Given the description of an element on the screen output the (x, y) to click on. 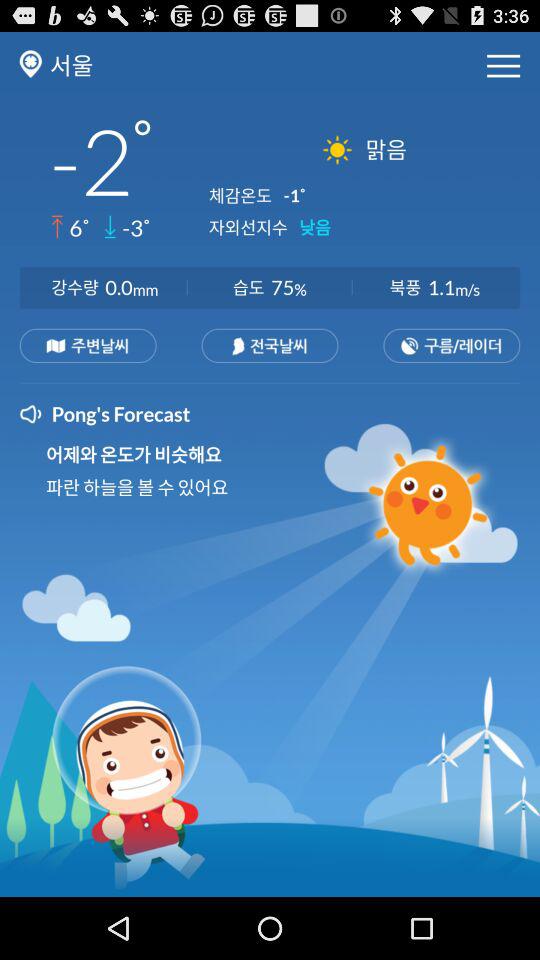
select the first text above pongs forecast (87, 345)
